Given the description of an element on the screen output the (x, y) to click on. 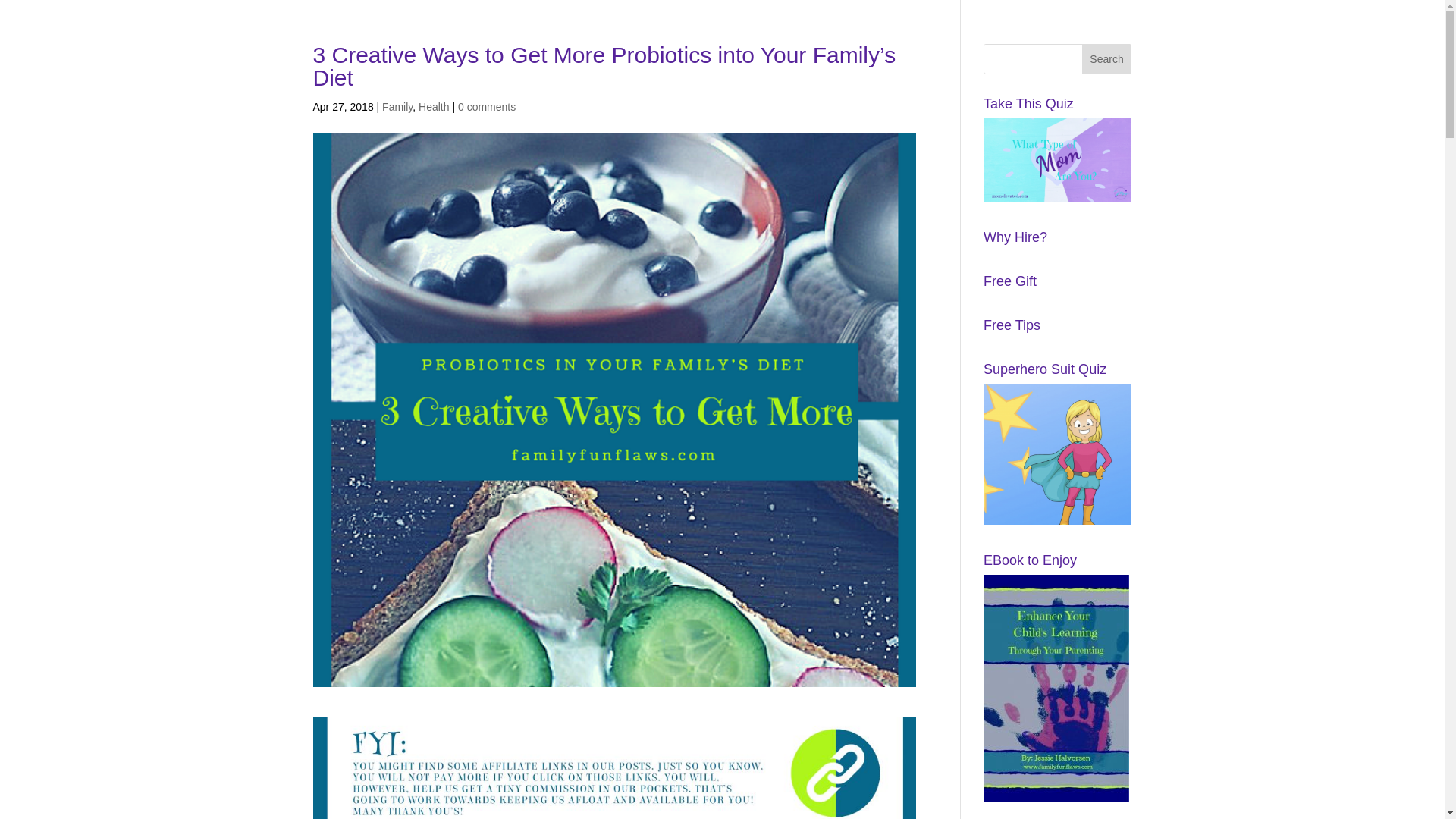
0 comments (486, 106)
Search (1106, 59)
Health (433, 106)
Search (1106, 59)
Family (396, 106)
